Given the description of an element on the screen output the (x, y) to click on. 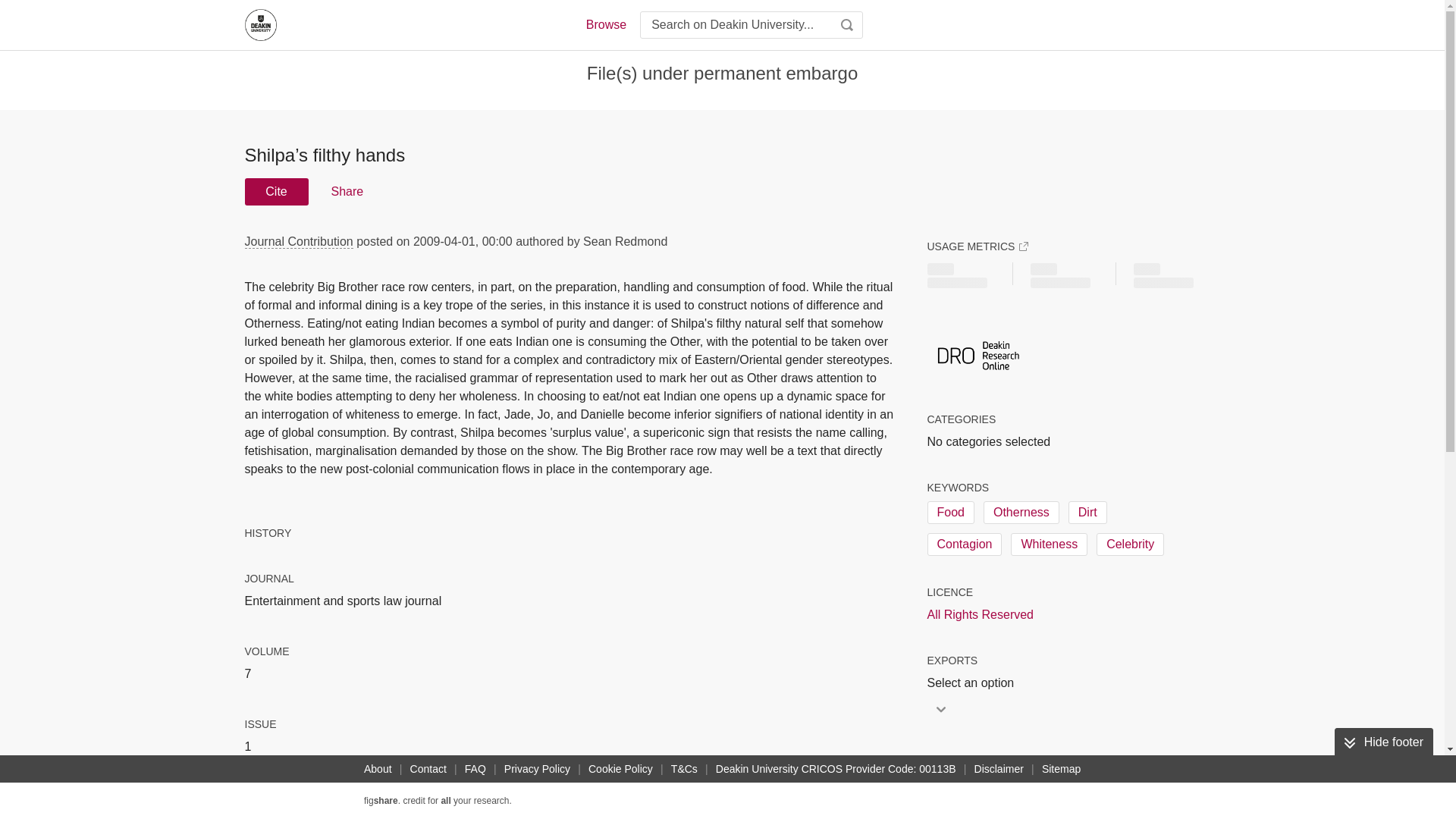
Disclaimer (998, 769)
Whiteness (1048, 544)
Otherness (1021, 512)
Food (950, 512)
Dirt (1087, 512)
Select an option (974, 683)
About (377, 769)
Privacy Policy (537, 769)
All Rights Reserved (979, 615)
Cite (275, 191)
Contact (428, 769)
USAGE METRICS (976, 246)
FAQ (475, 769)
Share (346, 191)
Sitemap (1060, 769)
